Given the description of an element on the screen output the (x, y) to click on. 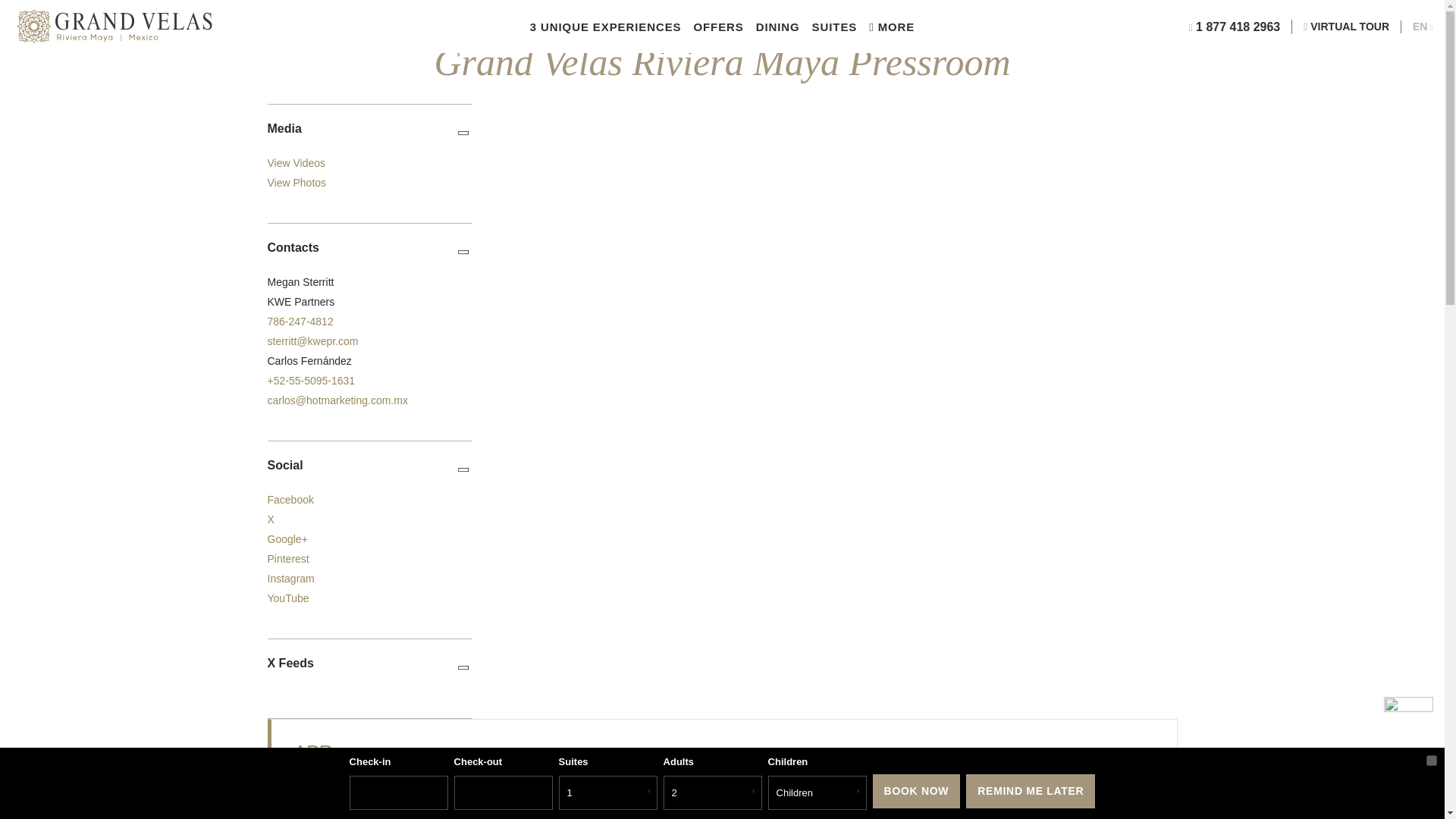
Pinterest (287, 558)
Instagram (290, 578)
OFFERS (717, 25)
3 UNIQUE EXPERIENCES (605, 25)
DINING (777, 25)
VIRTUAL TOUR (1346, 25)
EN (1422, 25)
1 (608, 792)
Children (817, 792)
Call (299, 321)
